Given the description of an element on the screen output the (x, y) to click on. 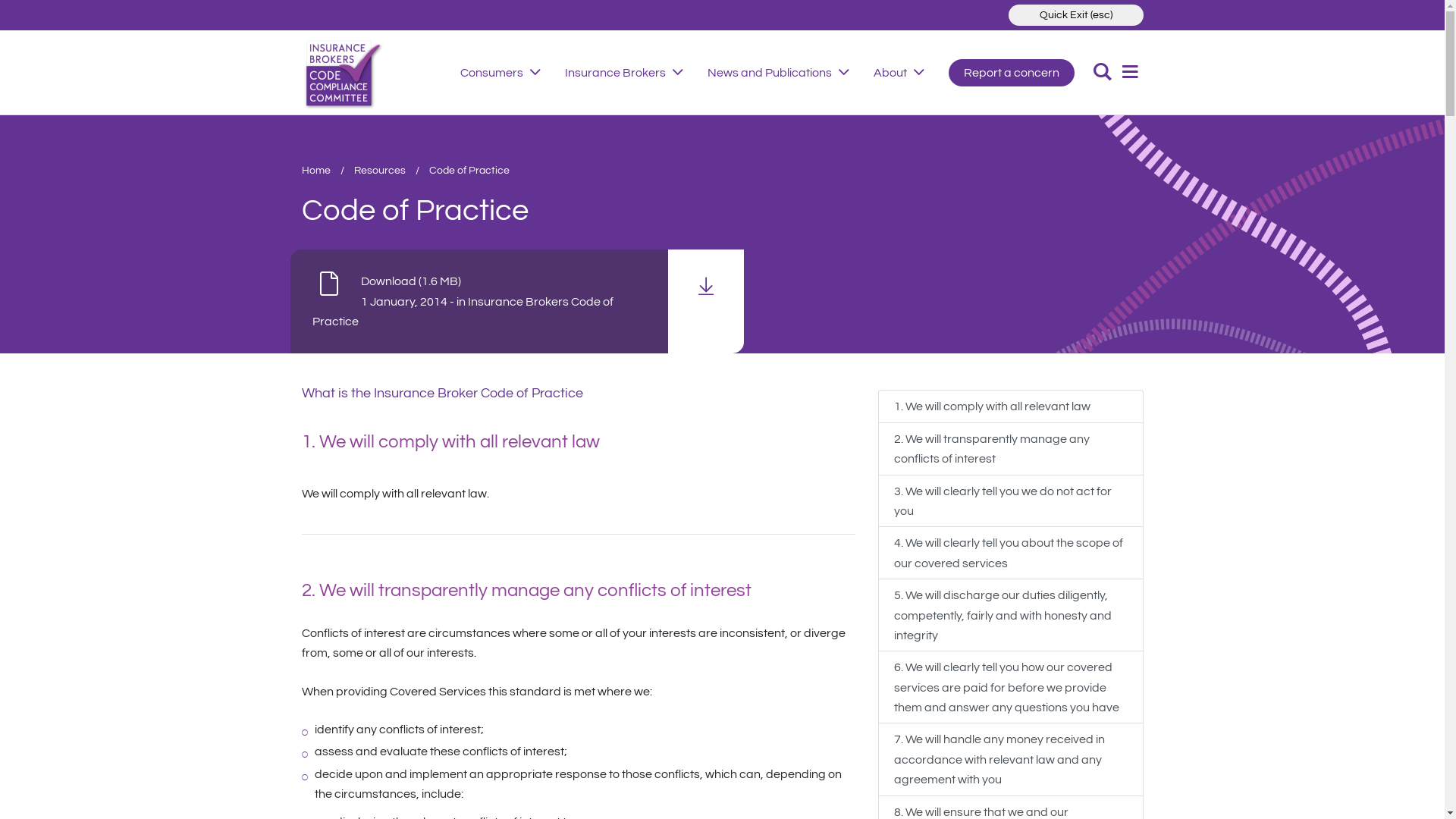
Quick Exit (esc) Element type: text (1075, 14)
Insurance Brokers Element type: text (615, 72)
2. We will transparently manage any conflicts of interest Element type: text (1010, 448)
About Element type: text (890, 72)
3. We will clearly tell you we do not act for you Element type: text (1010, 500)
News and Publications Element type: text (769, 72)
1. We will comply with all relevant law Element type: text (1010, 405)
Report a concern Element type: text (1011, 72)
Consumers Element type: text (491, 72)
Home Element type: text (316, 169)
Resources Element type: text (378, 169)
